Given the description of an element on the screen output the (x, y) to click on. 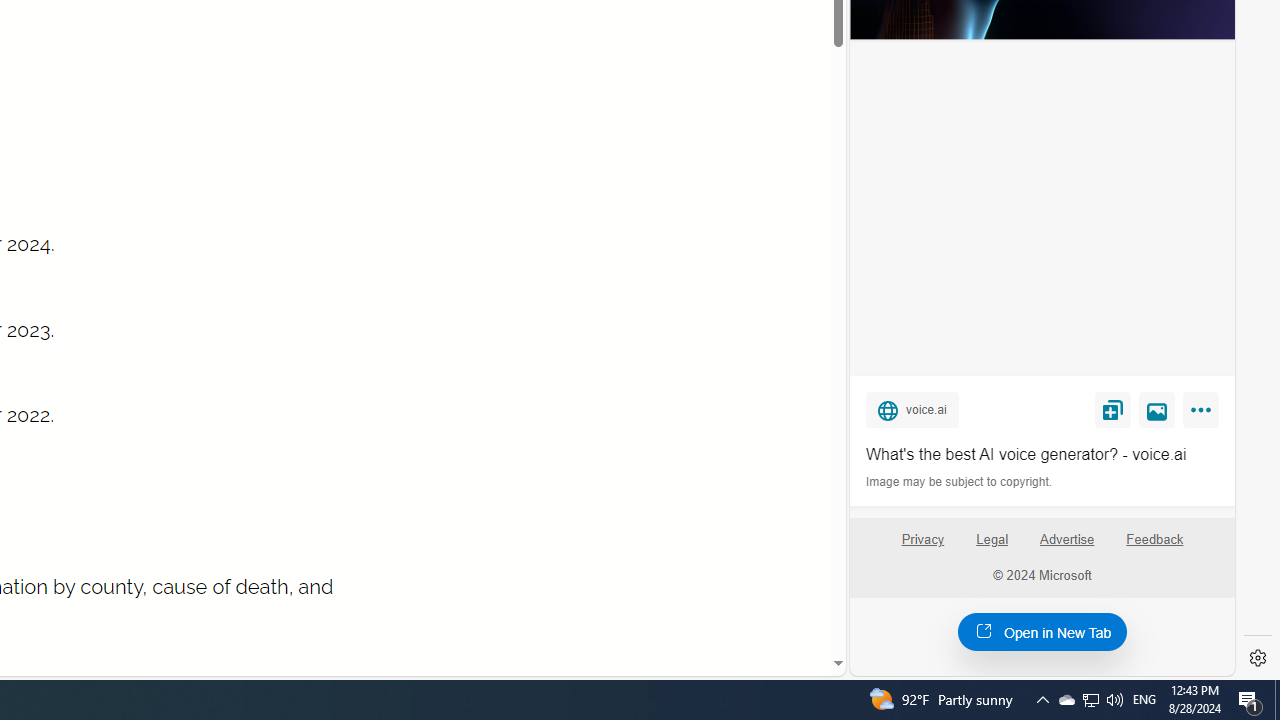
What's the best AI voice generator? - voice.ai (1042, 454)
Feedback (1154, 547)
More (1204, 413)
Advertise (1067, 547)
Legal (992, 547)
View image (1157, 409)
Advertise (1066, 539)
Save (1112, 409)
Settings (1258, 658)
Feedback (1155, 539)
Open in New Tab (1042, 631)
voice.ai (912, 409)
Image may be subject to copyright. (959, 481)
